Given the description of an element on the screen output the (x, y) to click on. 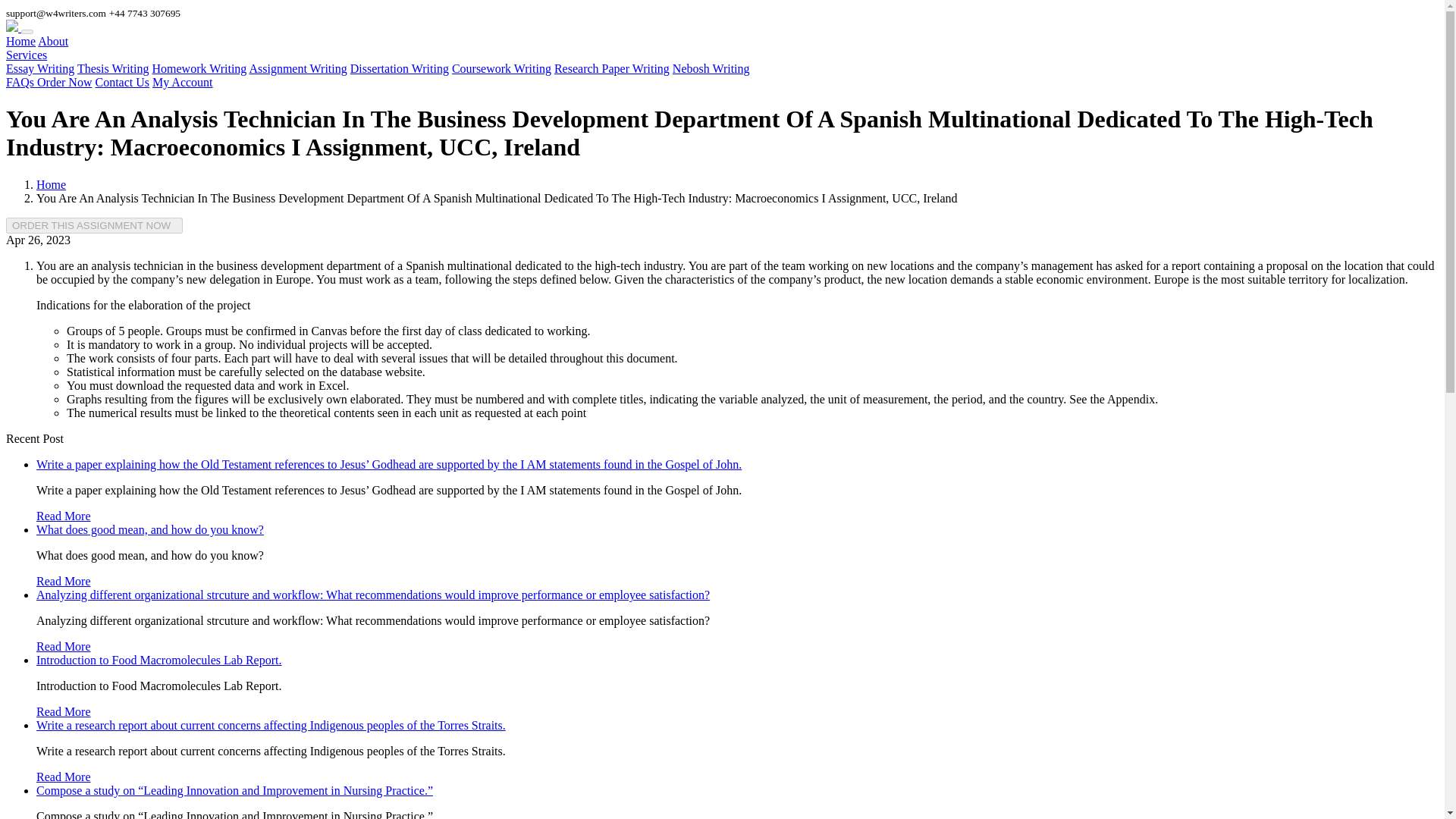
Essay Writing (39, 68)
Home (19, 41)
Thesis Writing (113, 68)
Read More (63, 645)
Assignment Writing (297, 68)
About (52, 41)
Dissertation Writing (399, 68)
FAQs (21, 82)
Home (50, 184)
Research Paper Writing (611, 68)
Order Now (64, 82)
Read More (63, 581)
ORDER THIS ASSIGNMENT NOW   (94, 225)
